Given the description of an element on the screen output the (x, y) to click on. 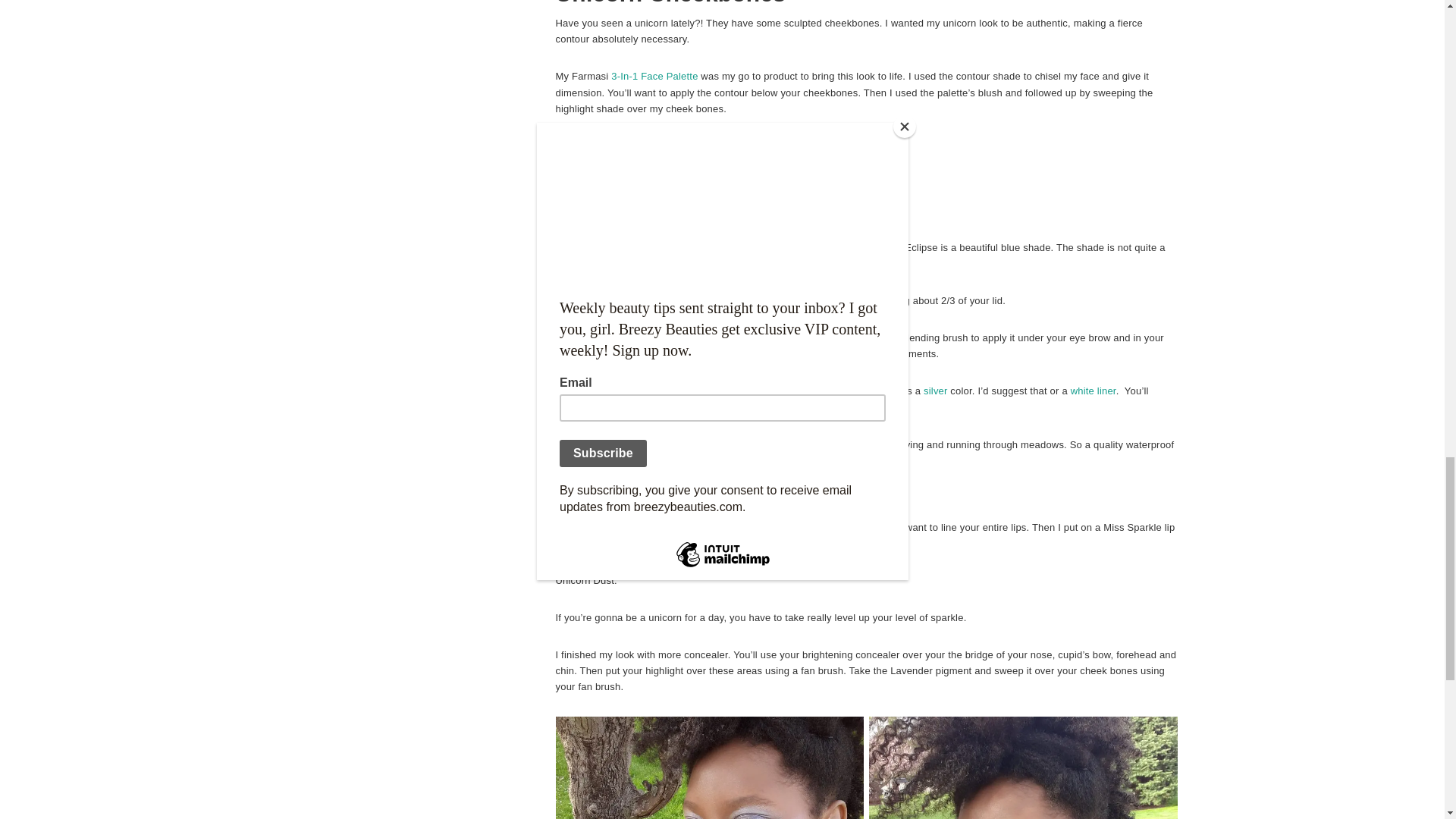
3-In-1 Face Palette (654, 75)
Honey Pot (676, 542)
white liner (1093, 390)
BE FIT mascara (731, 460)
silver (935, 390)
